Given the description of an element on the screen output the (x, y) to click on. 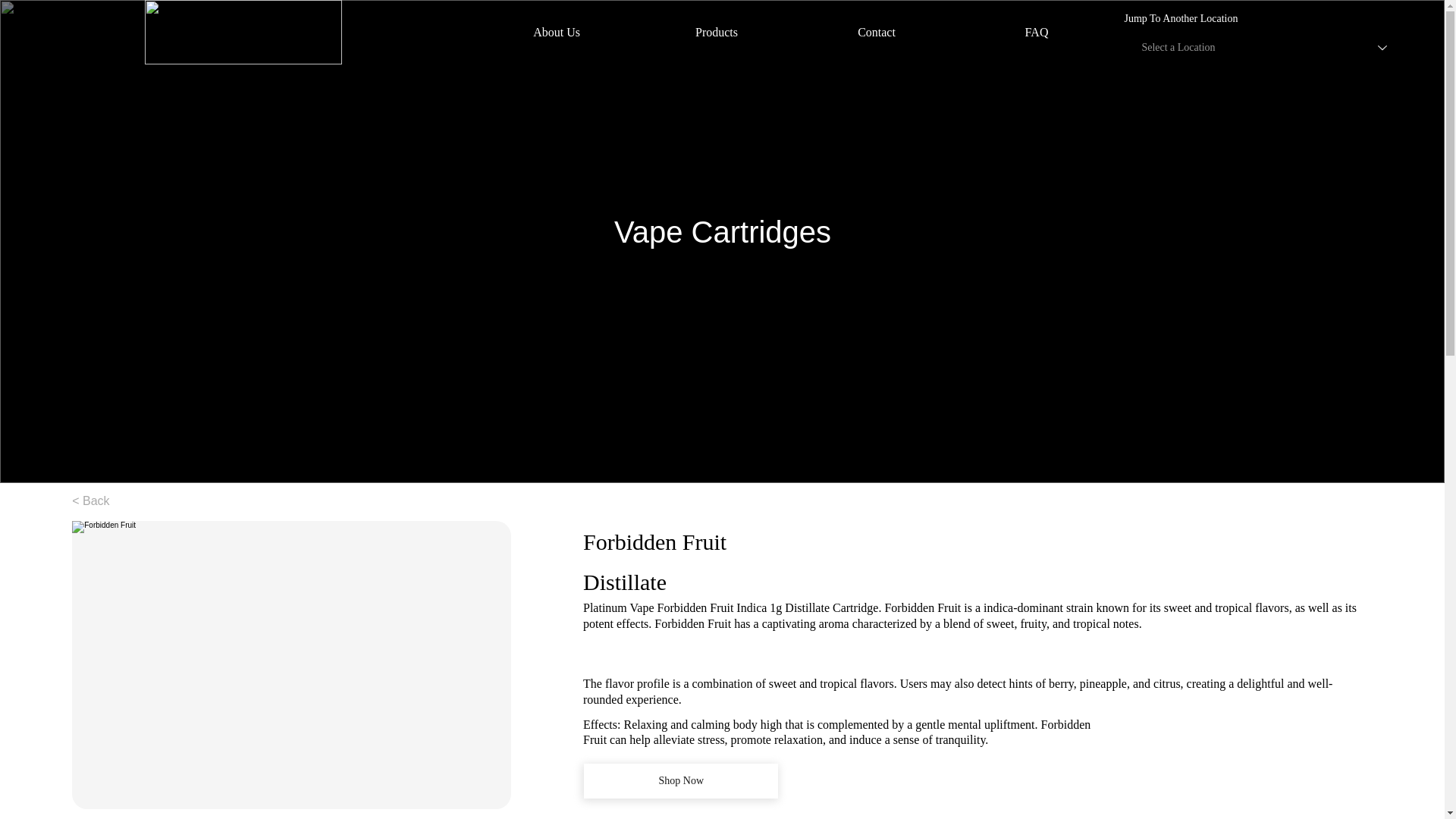
About Us (557, 32)
Contact (876, 32)
FAQ (1036, 32)
Products (716, 32)
